Given the description of an element on the screen output the (x, y) to click on. 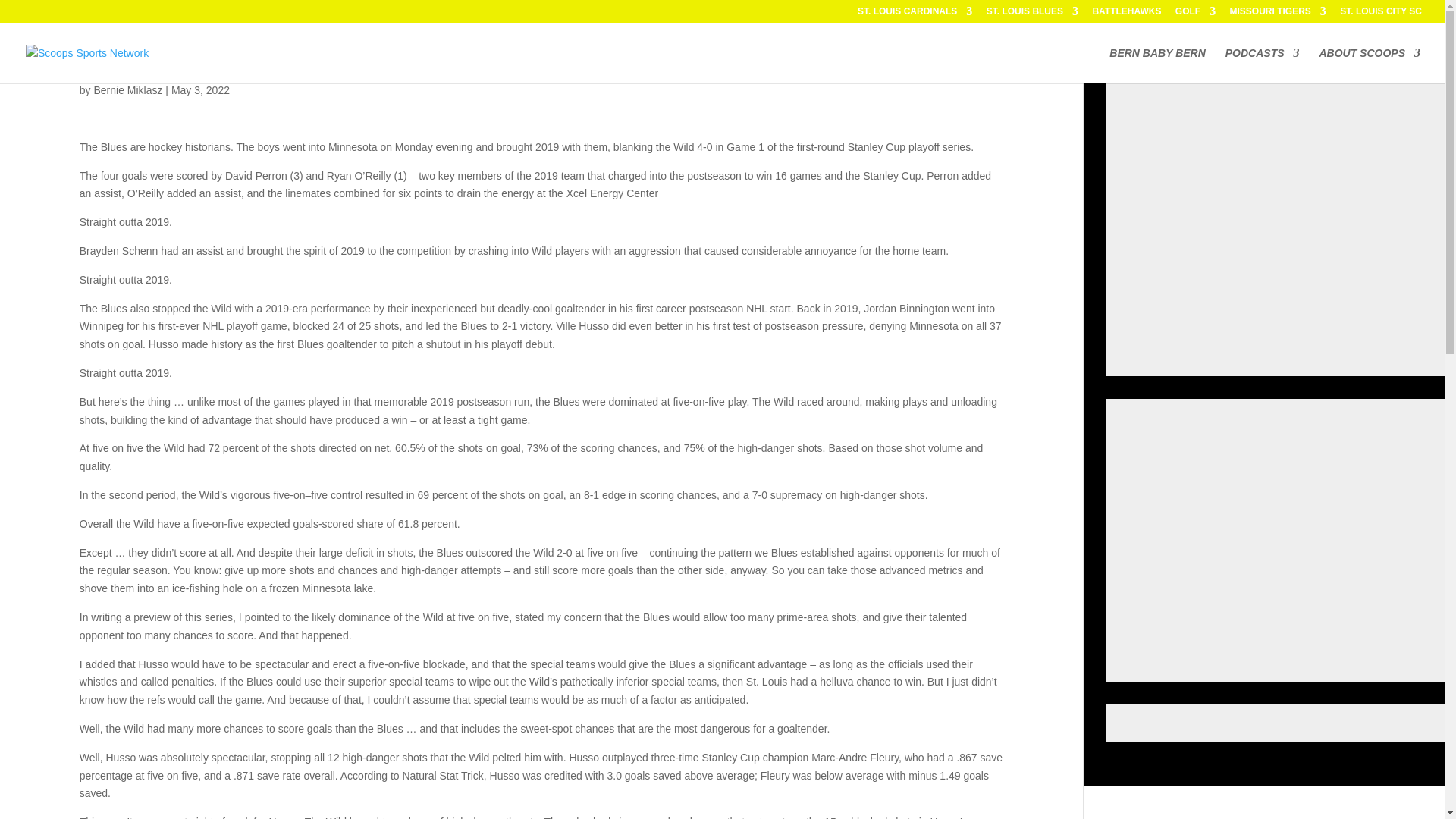
GOLF (1194, 14)
BERN BABY BERN (1157, 65)
Posts by Bernie Miklasz (127, 90)
ABOUT SCOOPS (1370, 65)
ST. LOUIS BLUES (1032, 14)
MISSOURI TIGERS (1278, 14)
BATTLEHAWKS (1126, 14)
ST. LOUIS CITY SC (1380, 14)
Bernie Miklasz (127, 90)
ST. LOUIS CARDINALS (914, 14)
PODCASTS (1262, 65)
